Given the description of an element on the screen output the (x, y) to click on. 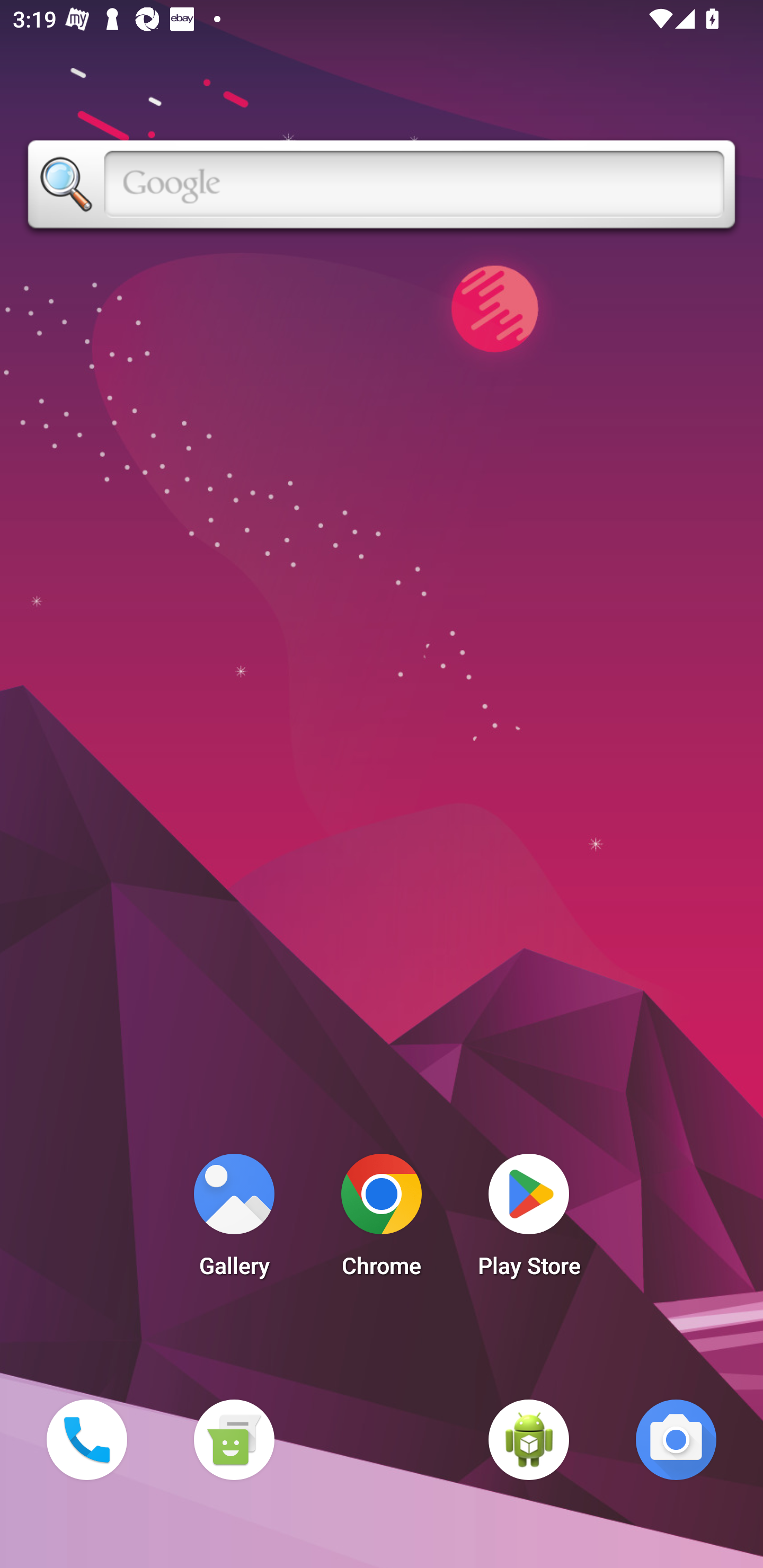
Gallery (233, 1220)
Chrome (381, 1220)
Play Store (528, 1220)
Phone (86, 1439)
Messaging (233, 1439)
WebView Browser Tester (528, 1439)
Camera (676, 1439)
